Given the description of an element on the screen output the (x, y) to click on. 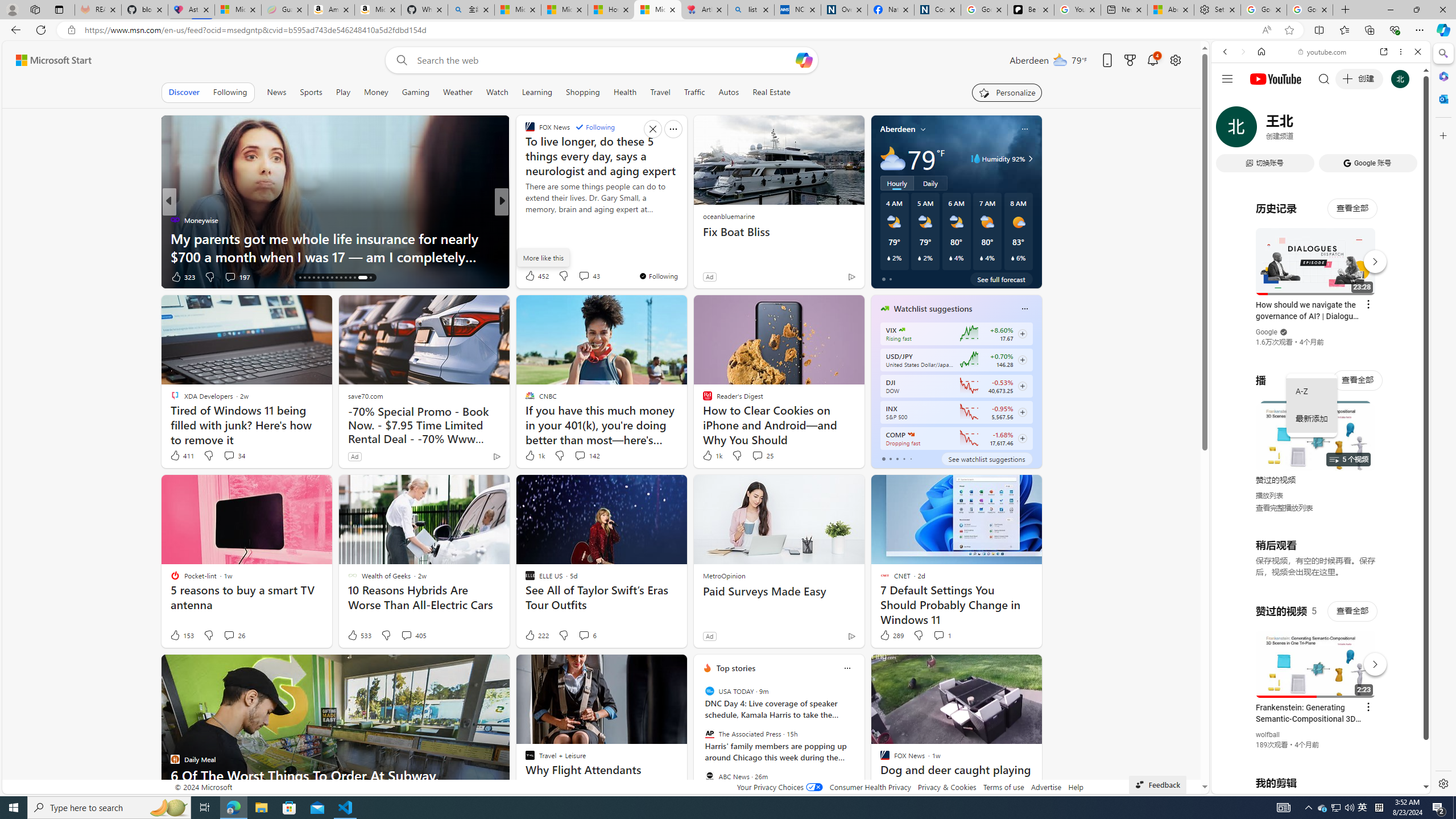
AutomationID: tab-23 (331, 277)
See full forecast (1000, 278)
You're following FOX News (657, 275)
next (858, 741)
Autos (728, 92)
Hourly (896, 183)
20 Like (530, 276)
Mostly cloudy (892, 158)
